Given the description of an element on the screen output the (x, y) to click on. 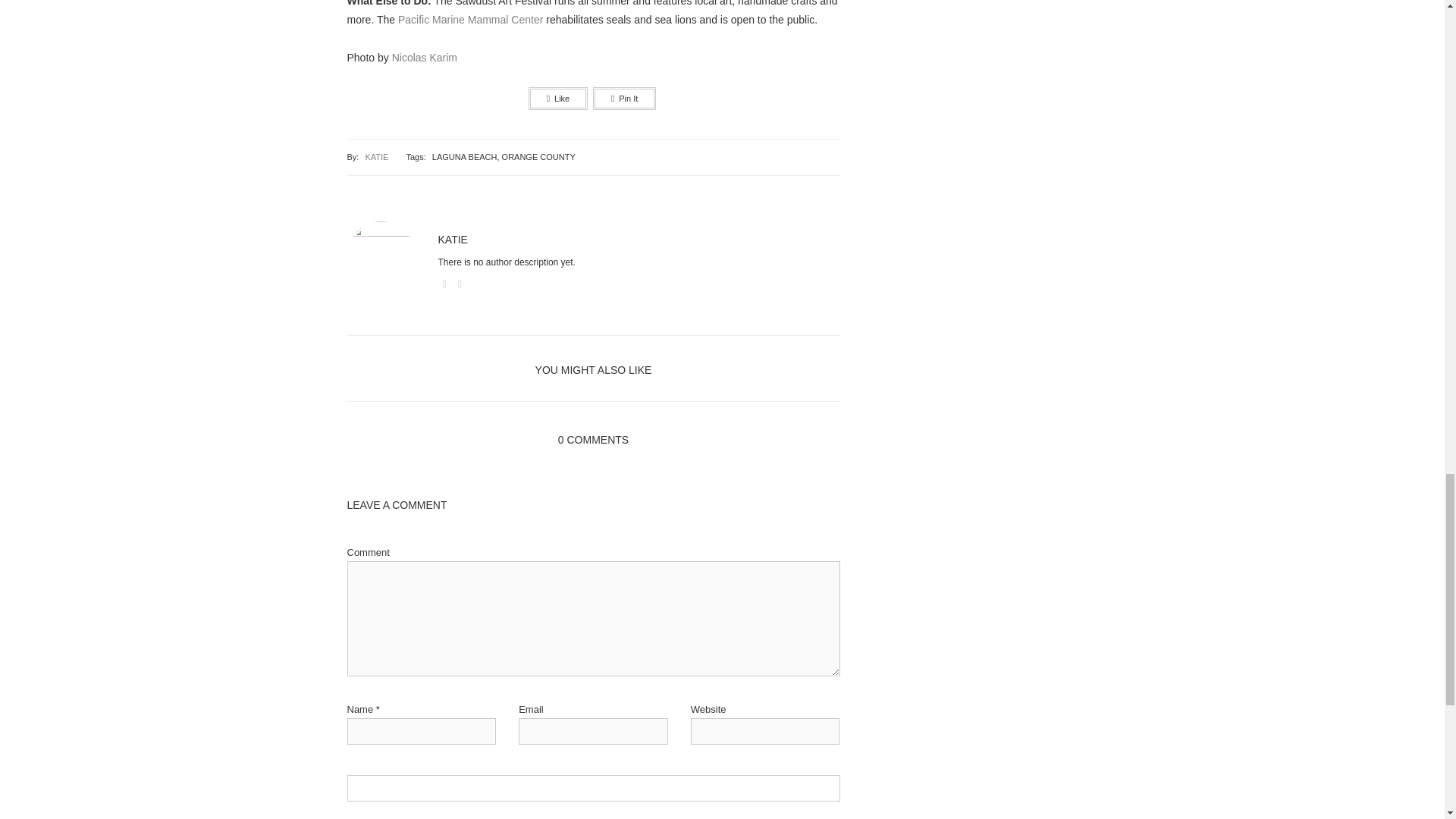
yes (593, 787)
KATIE (374, 156)
Pacific Marine Mammal Center (470, 19)
Like (558, 97)
Nicolas Karim (424, 57)
LAGUNA BEACH (464, 156)
Nicolas Karim (424, 57)
Pacific Marine Mammal Center (470, 19)
Pin It (624, 97)
ORANGE COUNTY (538, 156)
